Given the description of an element on the screen output the (x, y) to click on. 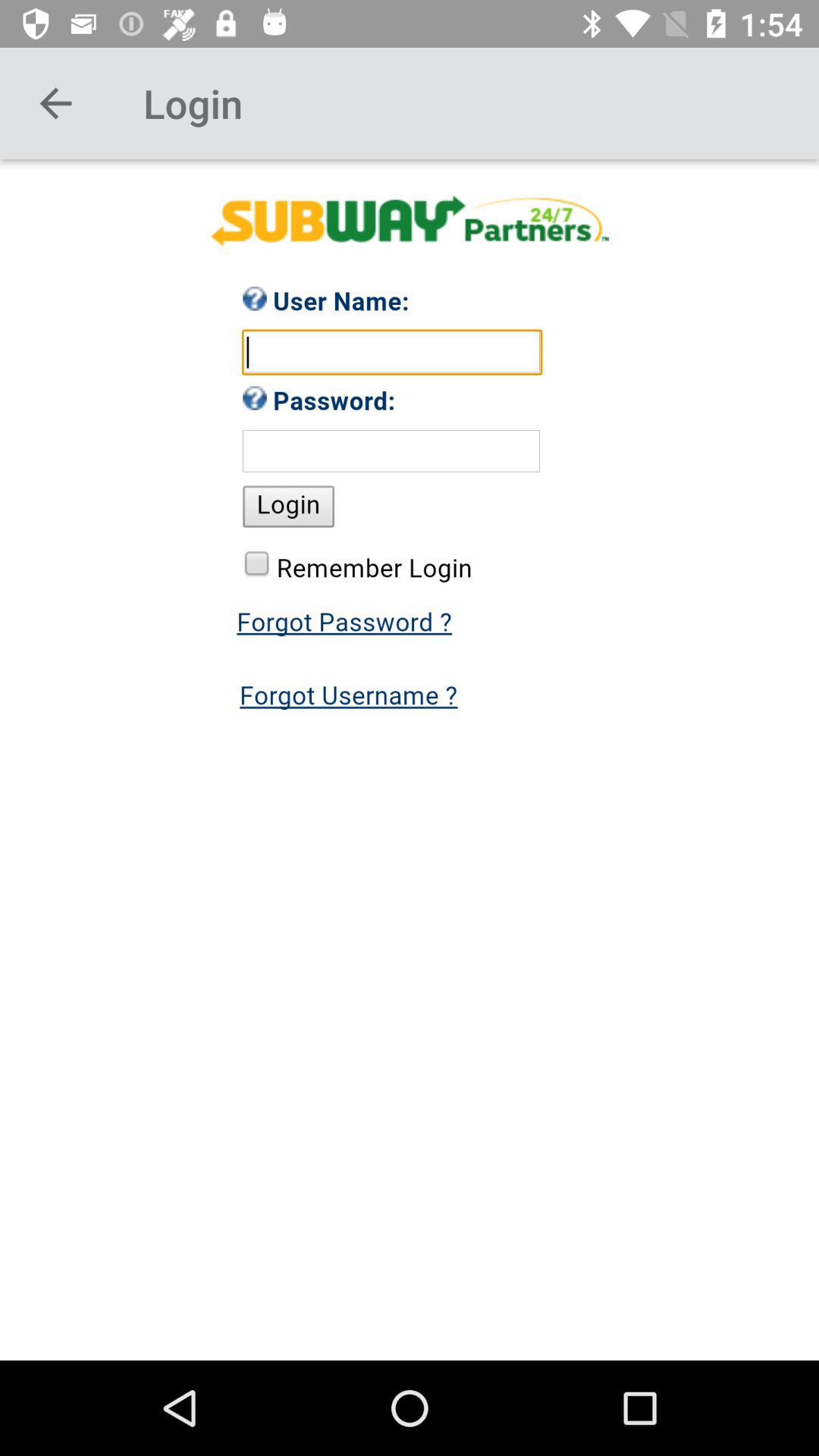
login page (409, 759)
